Given the description of an element on the screen output the (x, y) to click on. 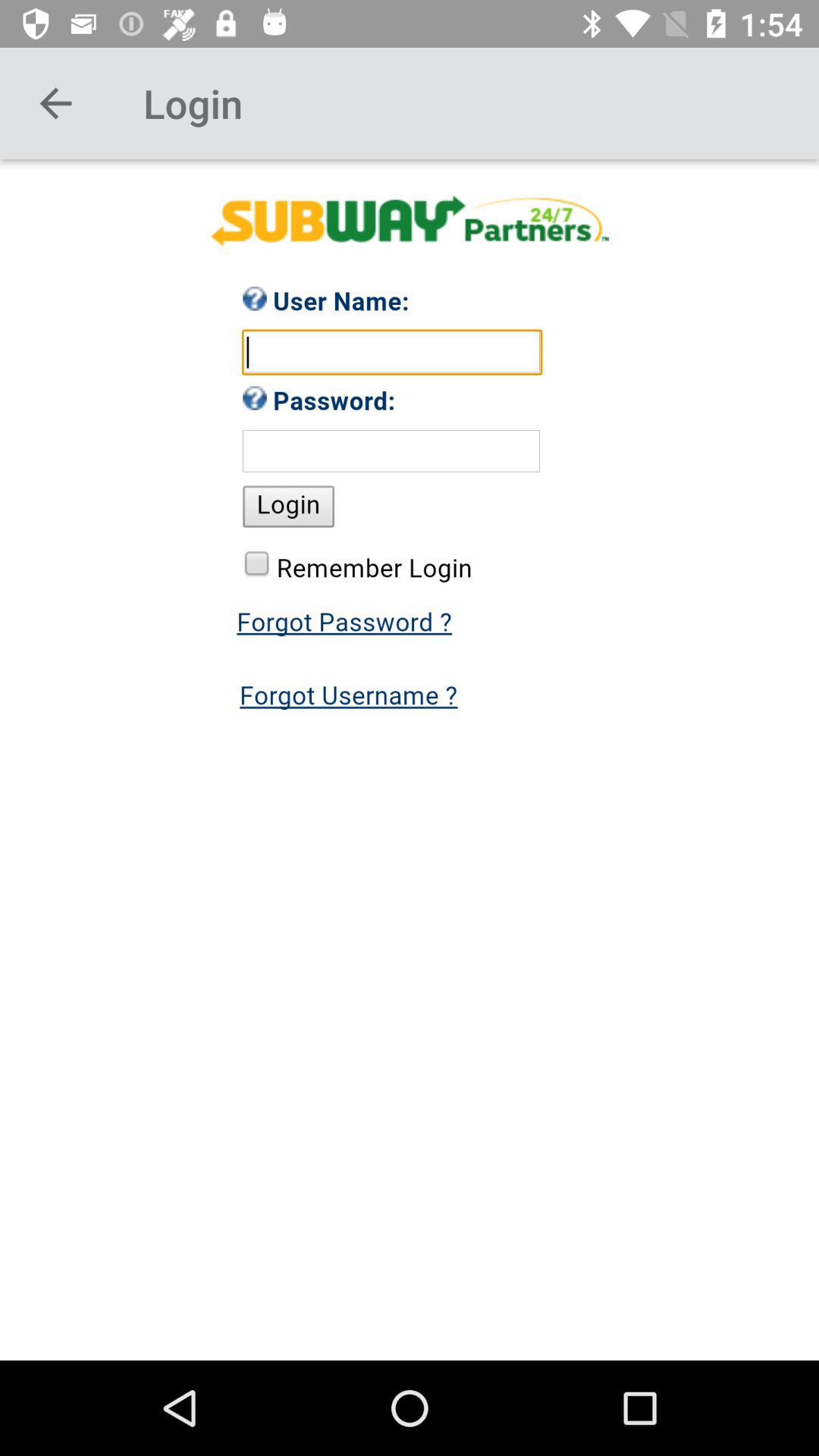
login page (409, 759)
